Given the description of an element on the screen output the (x, y) to click on. 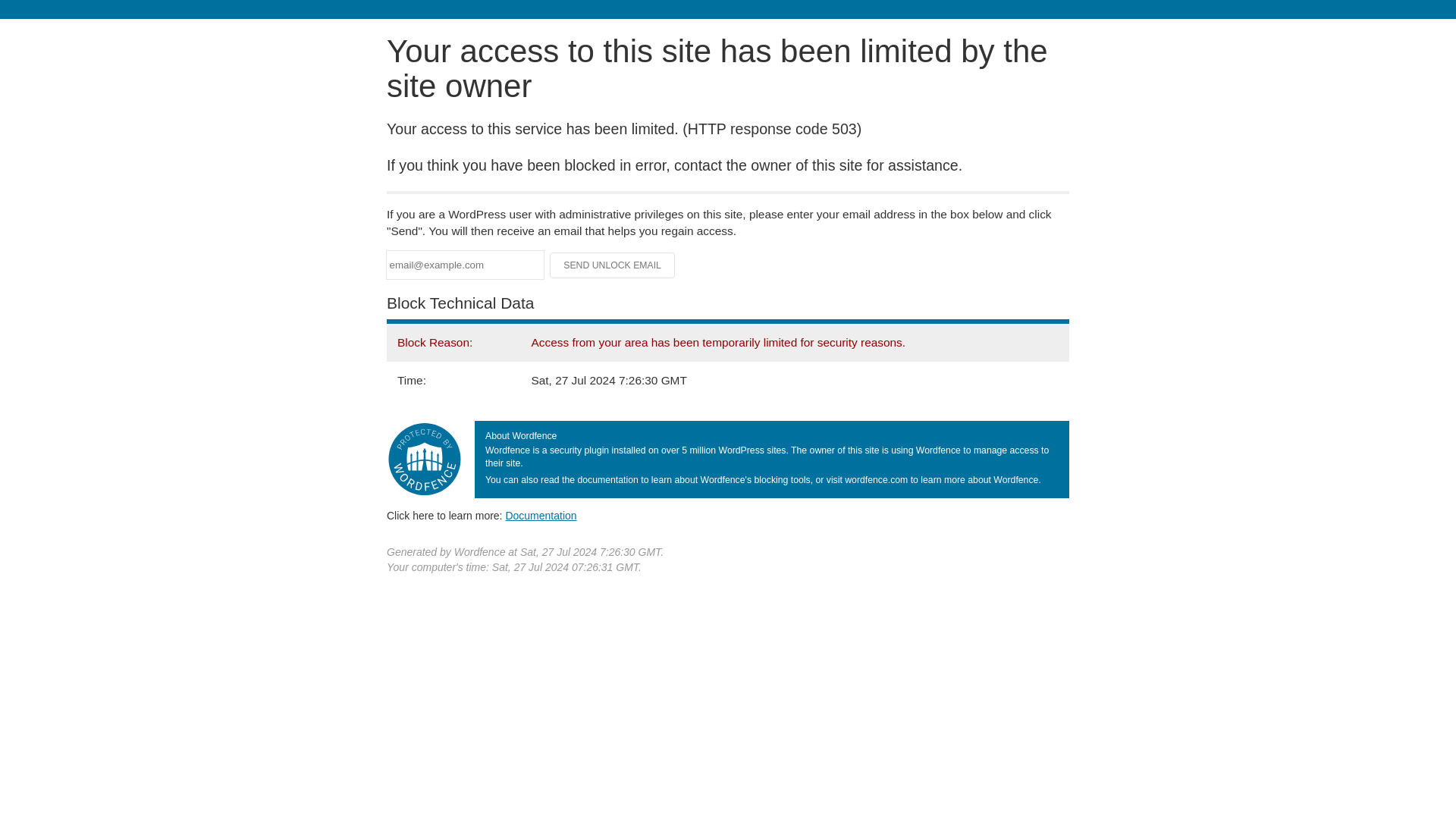
Documentation (540, 515)
Send Unlock Email (612, 265)
Send Unlock Email (612, 265)
